Given the description of an element on the screen output the (x, y) to click on. 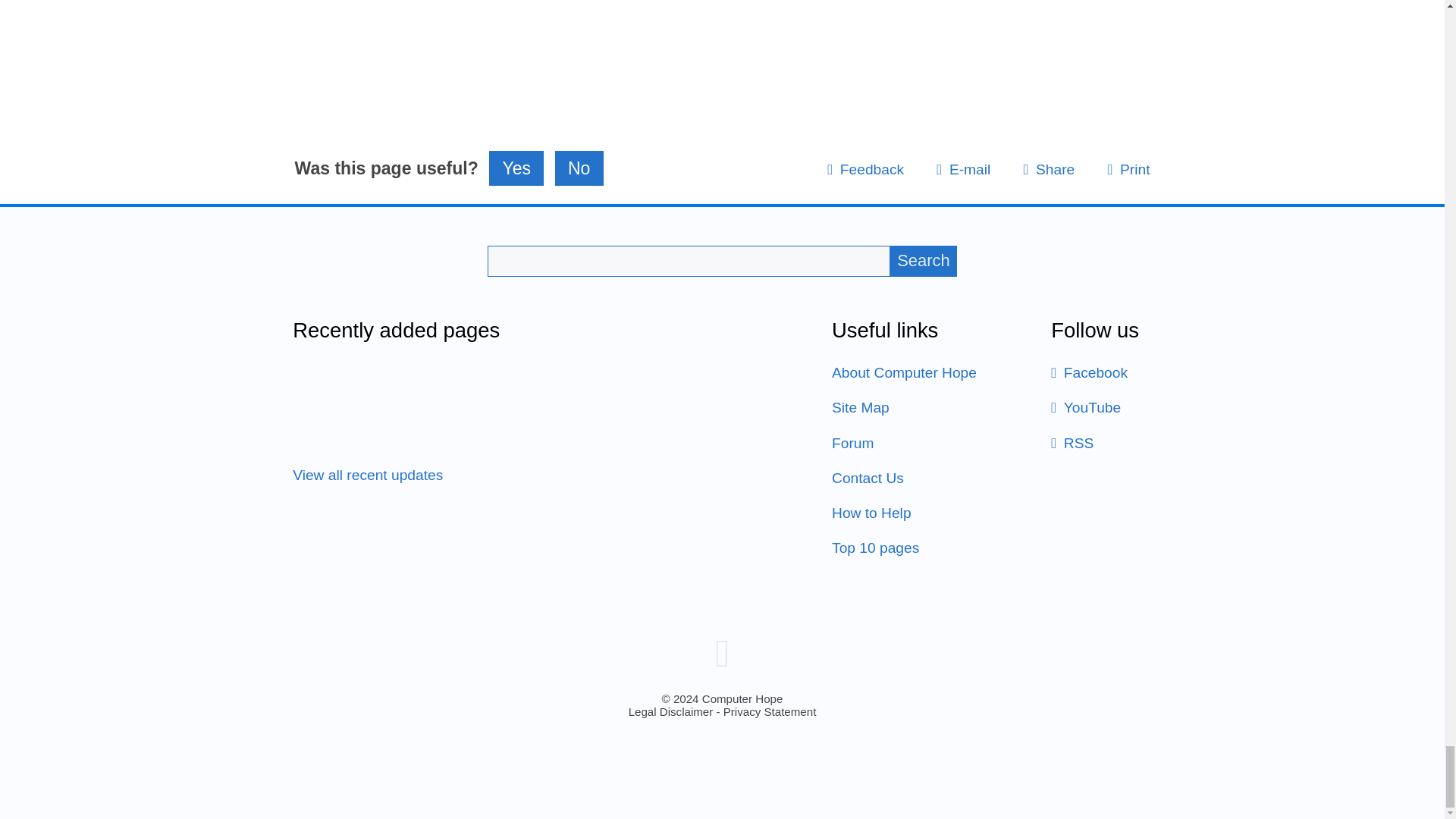
Share this page with friends and social networks (1048, 169)
Computer Hope home page (721, 652)
Print a copy of this page (1128, 169)
Give us your feedback about this page (865, 169)
E-mail Computer Hope (963, 169)
